Given the description of an element on the screen output the (x, y) to click on. 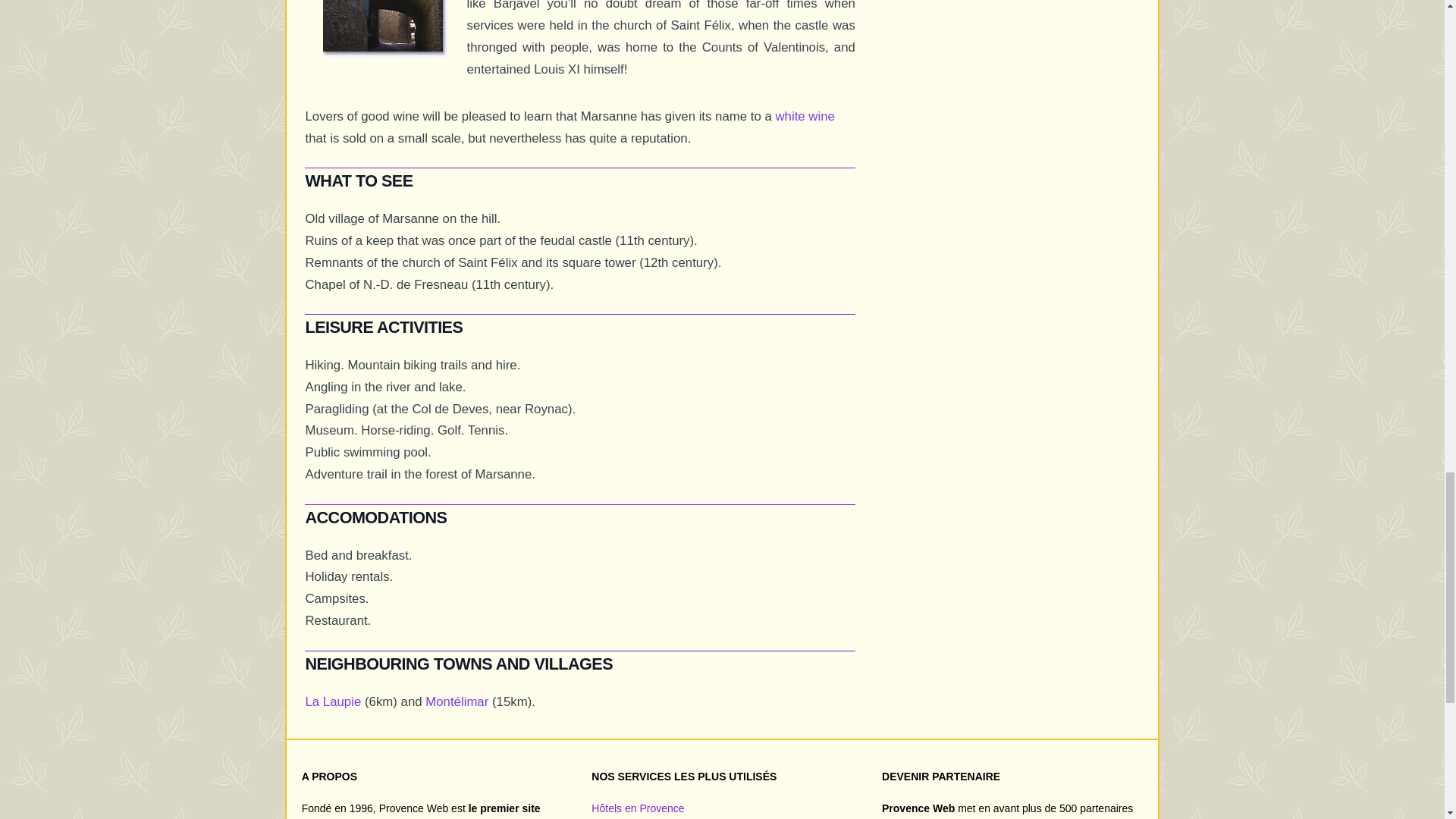
Marsanne wine on wikipedia (804, 115)
